Given the description of an element on the screen output the (x, y) to click on. 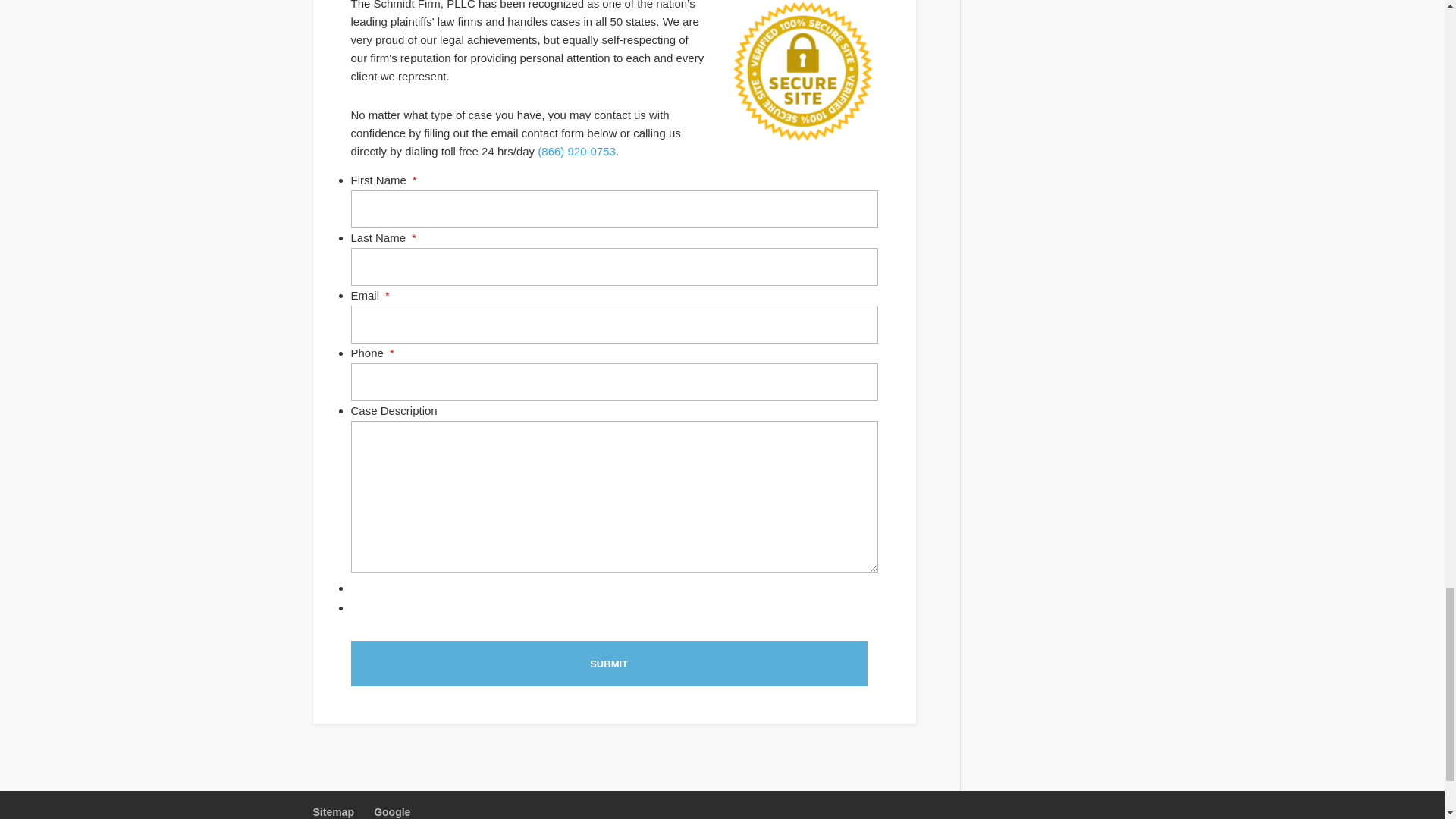
Submit (608, 663)
Submit (608, 663)
Sitemap (333, 811)
